Given the description of an element on the screen output the (x, y) to click on. 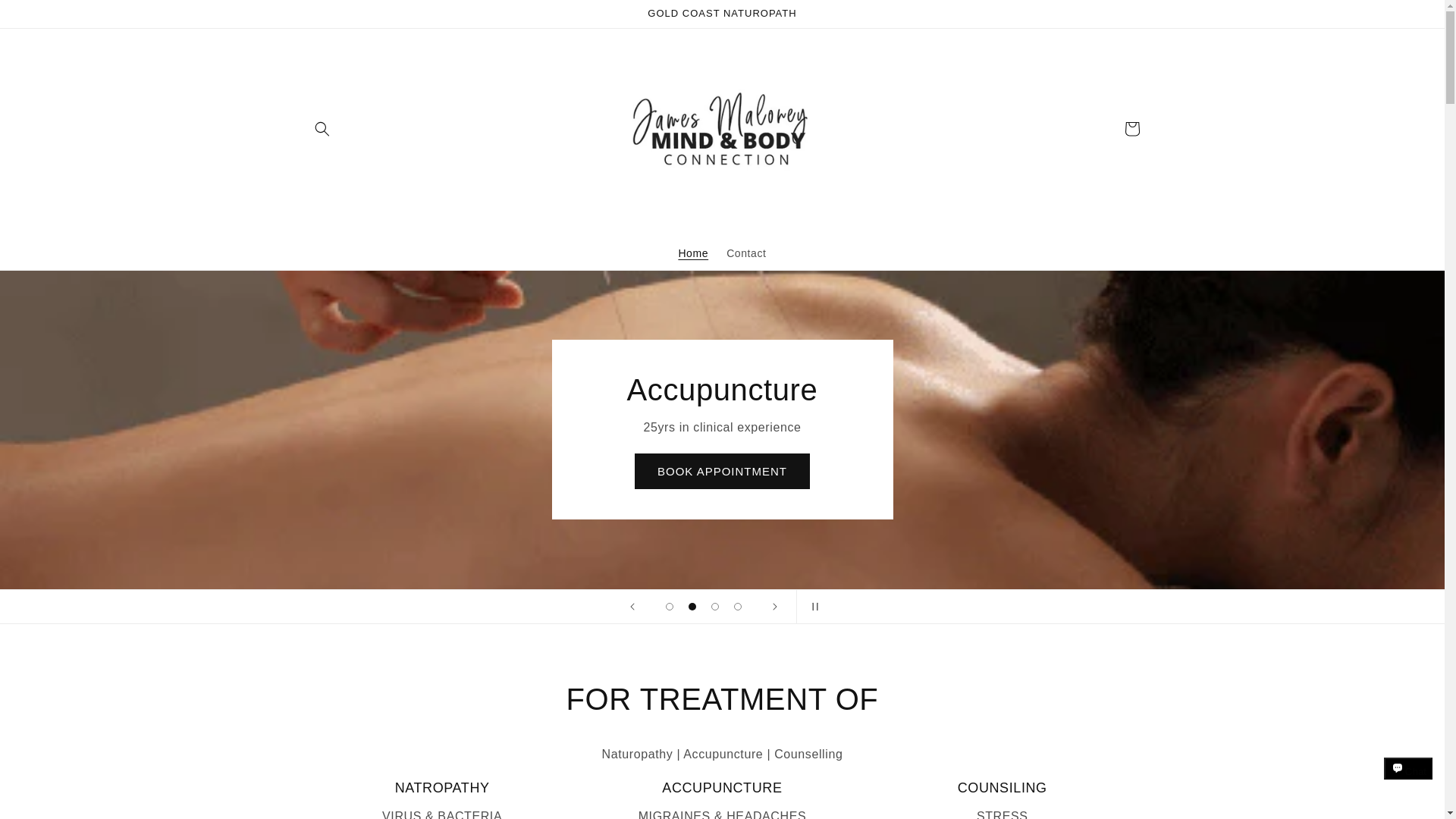
Cart (1131, 128)
Home (692, 253)
Shopify online store chat (1408, 781)
BOOK APPOINTMENT (721, 470)
Contact (745, 253)
Skip to content (45, 17)
